Given the description of an element on the screen output the (x, y) to click on. 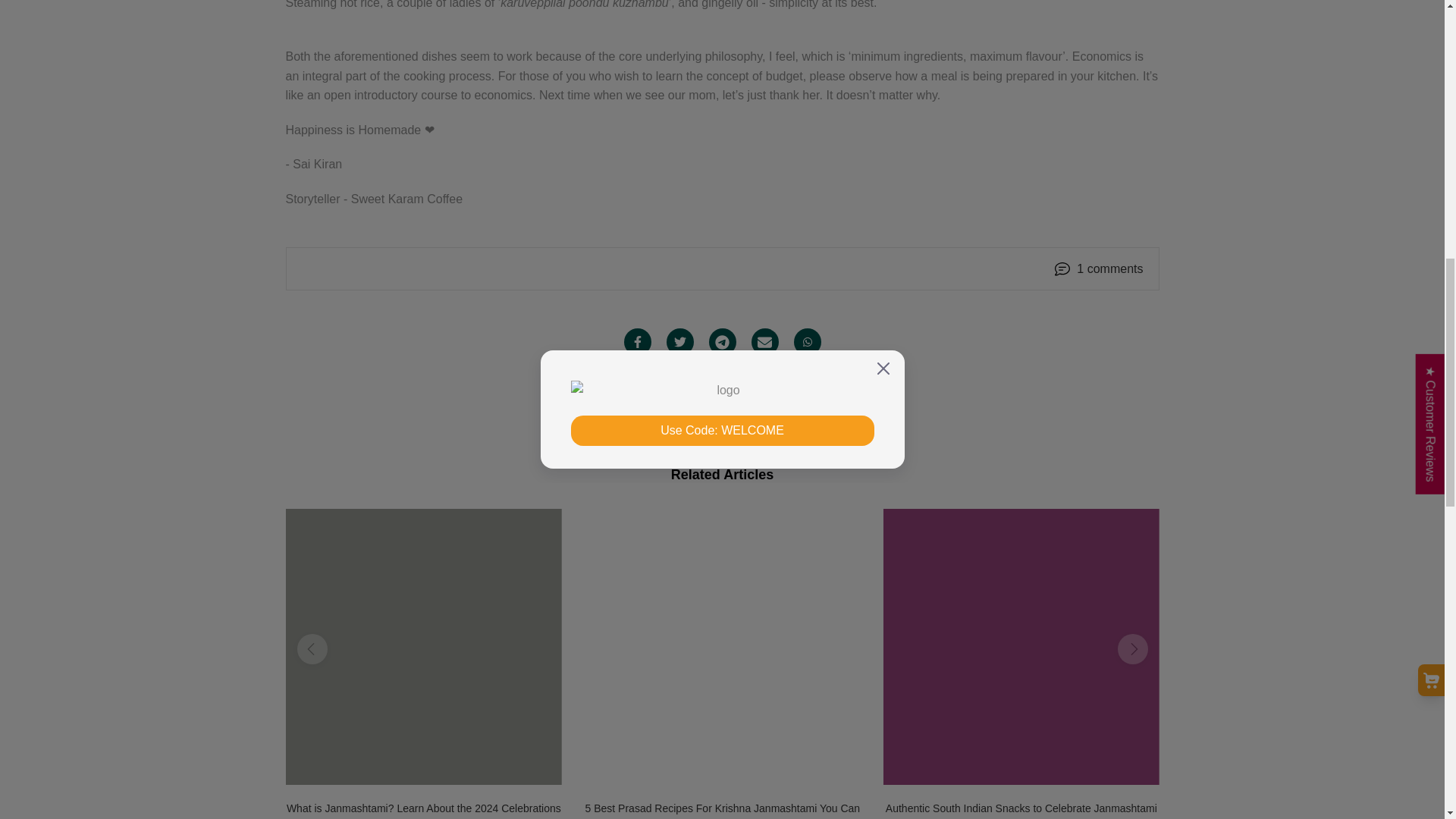
Share on Facebook (636, 341)
Share on WhatsApp (807, 341)
1 comments (1109, 269)
What's your Diwali like ? - Sai Kiran, Storyteller (646, 409)
Share on Telegram (721, 341)
Share on Twitter (679, 341)
Share on Email (764, 341)
Back to Happiness is Homemade (722, 409)
